Given the description of an element on the screen output the (x, y) to click on. 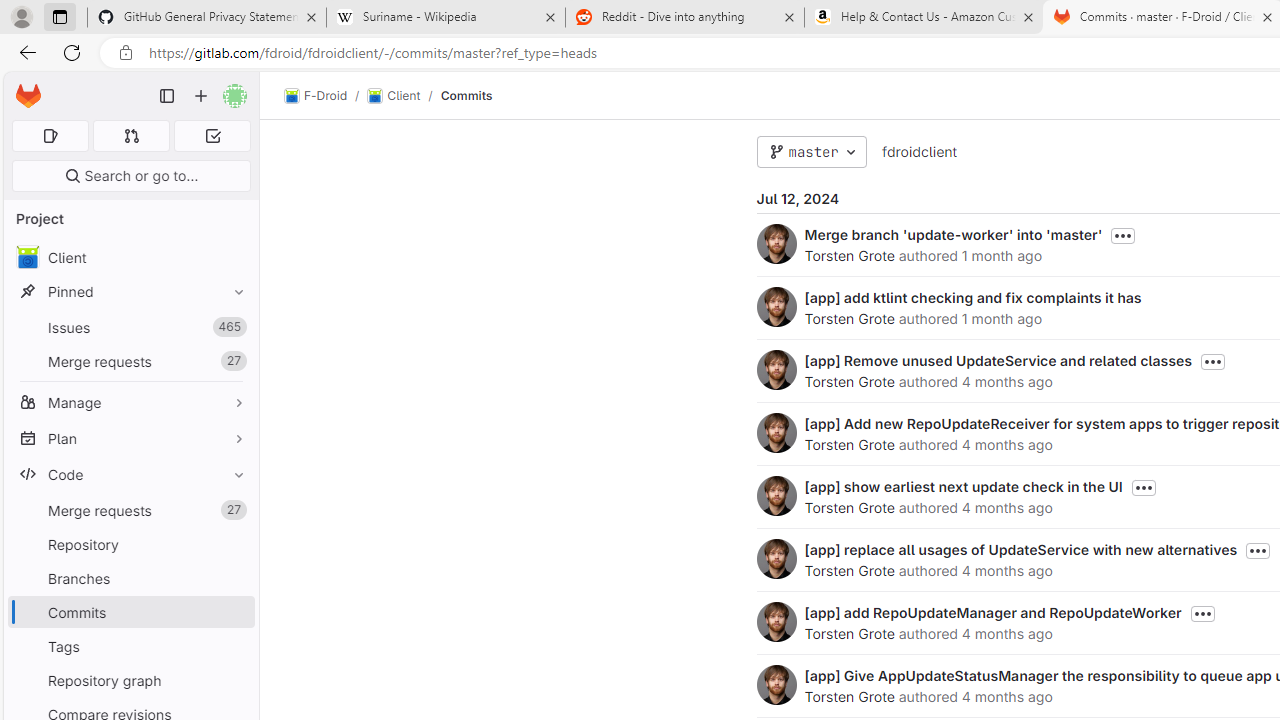
Client (130, 257)
Issues465 (130, 327)
Branches (130, 578)
Skip to main content (23, 87)
avatar Client (130, 257)
Client (394, 96)
Create new... (201, 96)
